Given the description of an element on the screen output the (x, y) to click on. 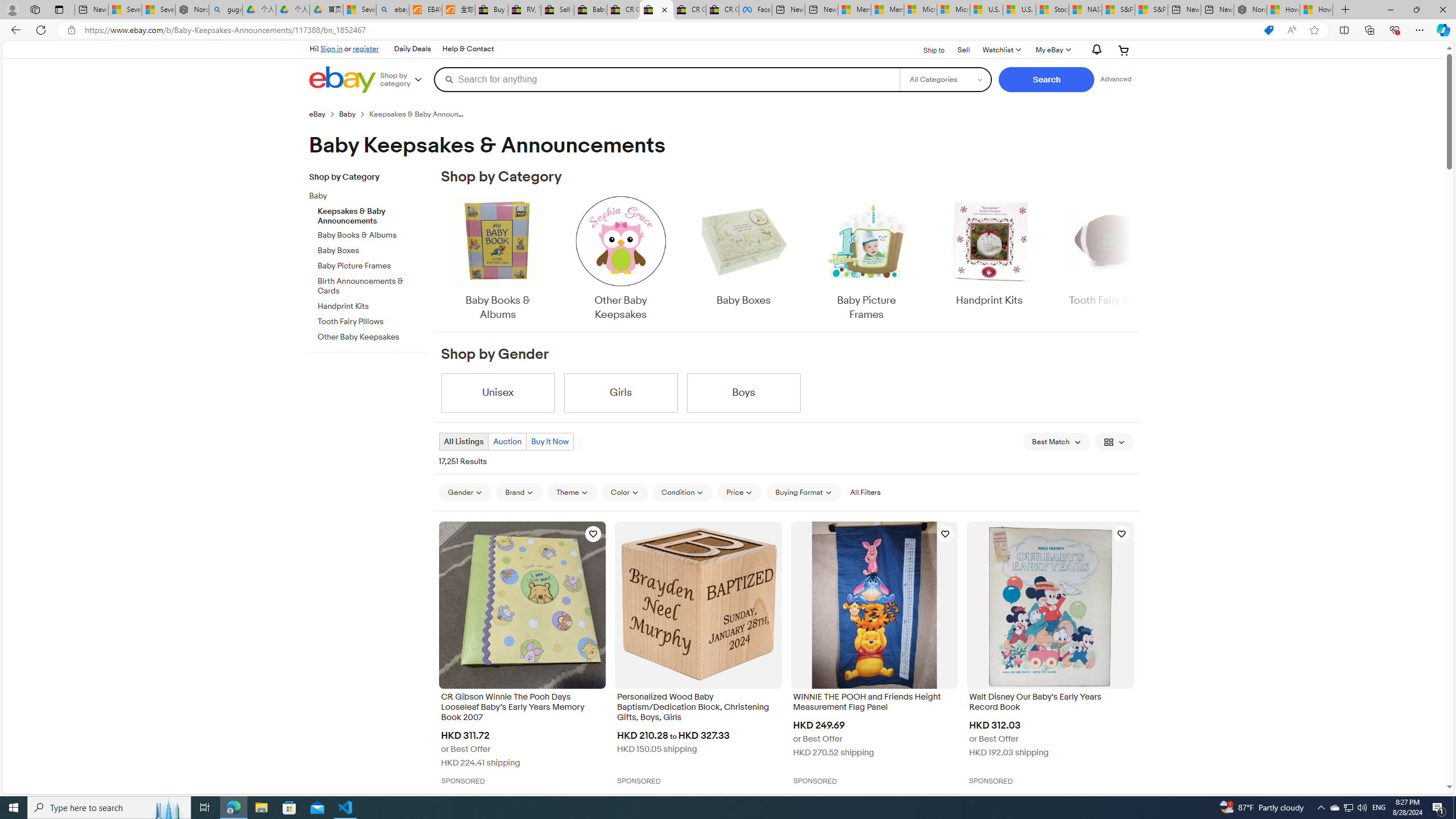
eBay (317, 113)
Boys (742, 392)
Copilot (Ctrl+Shift+.) (1442, 29)
Tooth Fairy Pillows (371, 319)
New Tab (1346, 9)
Add this page to favorites (Ctrl+D) (1314, 29)
Close tab (664, 9)
Birth Announcements & Cards (371, 283)
Sell (963, 49)
Boys (742, 392)
Sell worldwide with eBay (557, 9)
